Given the description of an element on the screen output the (x, y) to click on. 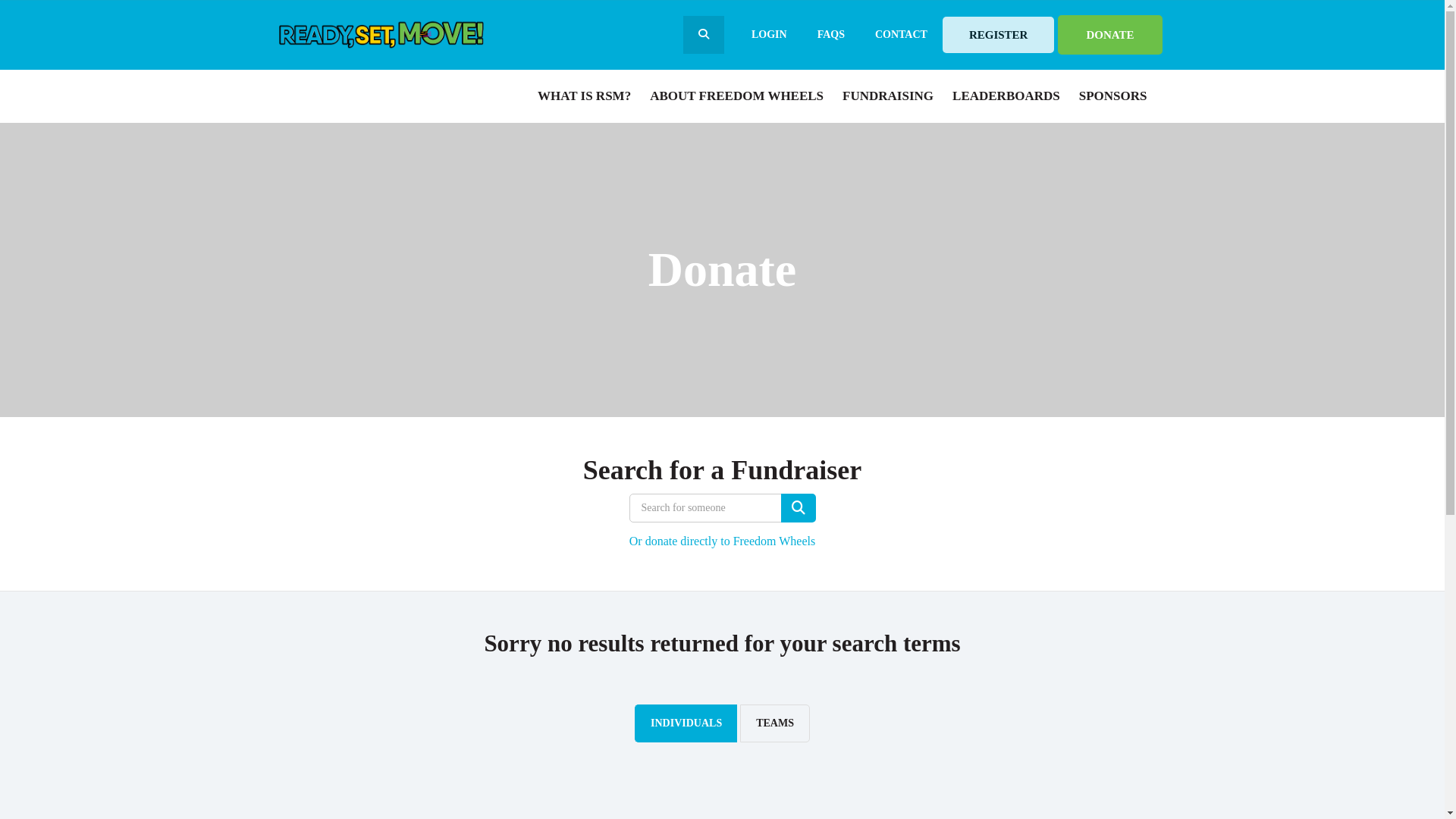
WHAT IS RSM? Element type: text (582, 95)
ABOUT FREEDOM WHEELS Element type: text (734, 95)
TEAMS Element type: text (774, 723)
CONTACT Element type: text (900, 34)
LOGIN Element type: text (762, 34)
FUNDRAISING Element type: text (886, 95)
Or donate directly to Freedom Wheels Element type: text (722, 540)
SPONSORS Element type: text (1110, 95)
REGISTER Element type: text (998, 34)
DONATE Element type: text (1109, 34)
INDIVIDUALS Element type: text (685, 723)
FAQS Element type: text (830, 34)
LEADERBOARDS Element type: text (1004, 95)
